Given the description of an element on the screen output the (x, y) to click on. 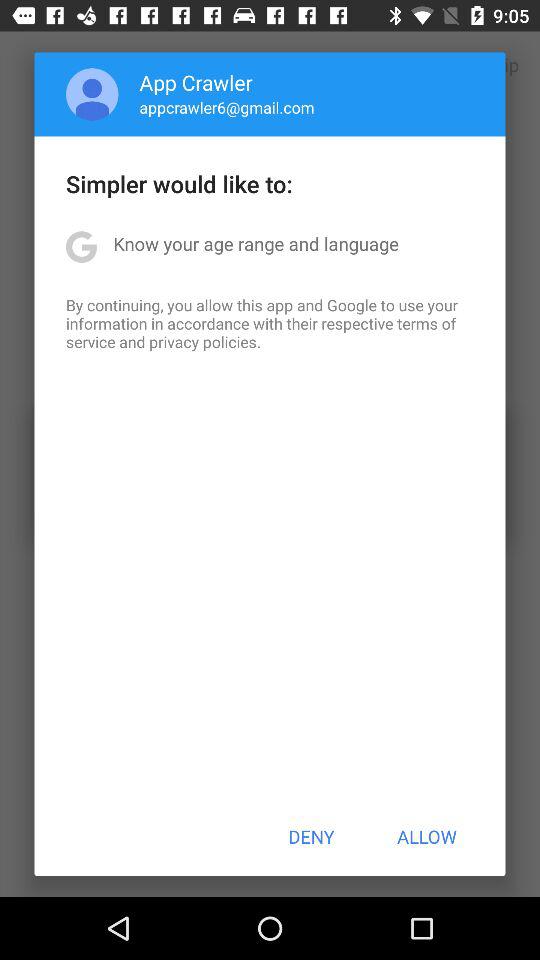
launch item to the left of the allow button (311, 836)
